Given the description of an element on the screen output the (x, y) to click on. 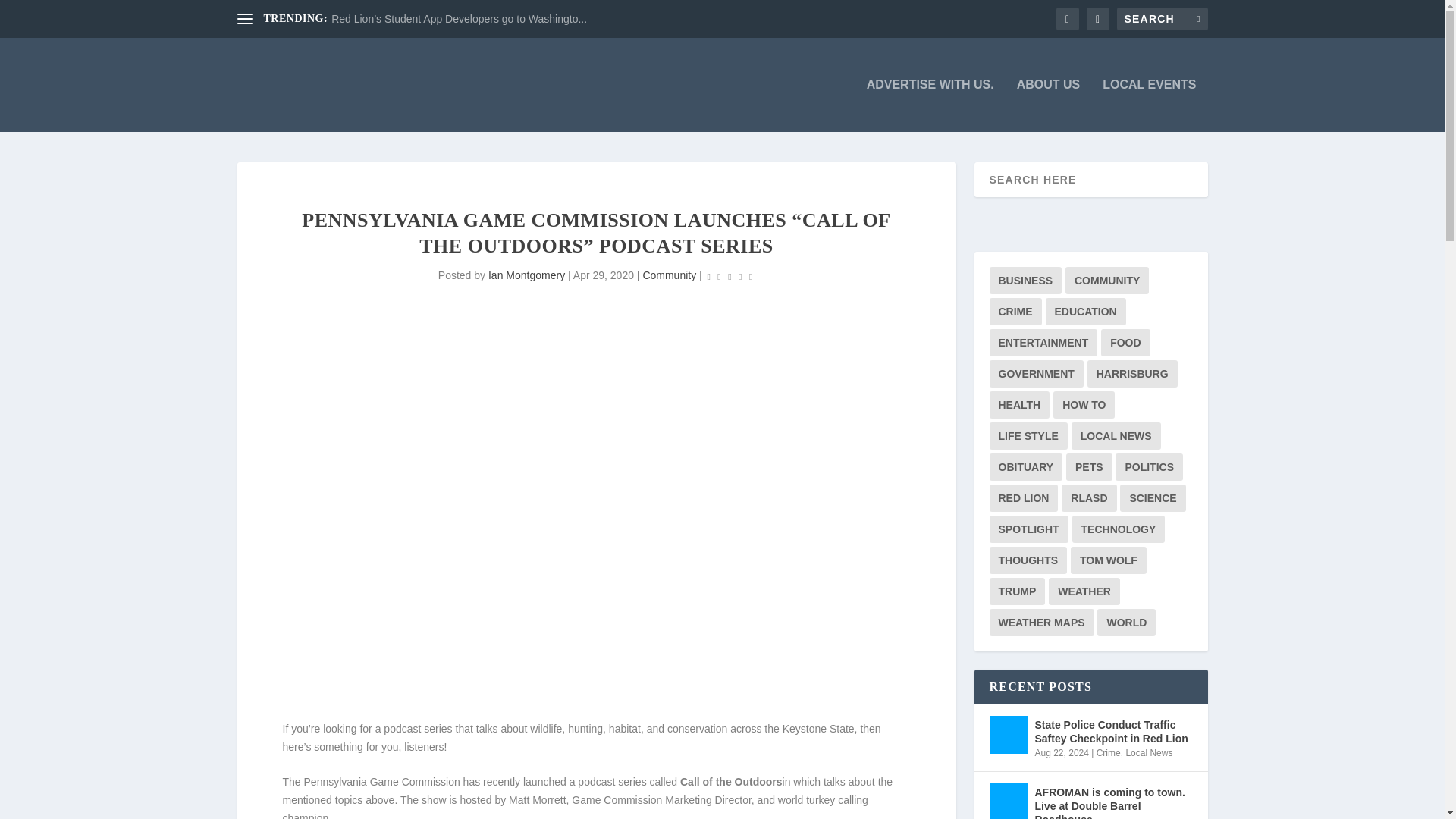
ABOUT US (1048, 104)
Posts by Ian Montgomery (525, 275)
Community (668, 275)
Search for: (1161, 18)
Ian Montgomery (525, 275)
LOCAL EVENTS (1148, 104)
ADVERTISE WITH US. (930, 104)
Rating: 0.00 (729, 275)
